Given the description of an element on the screen output the (x, y) to click on. 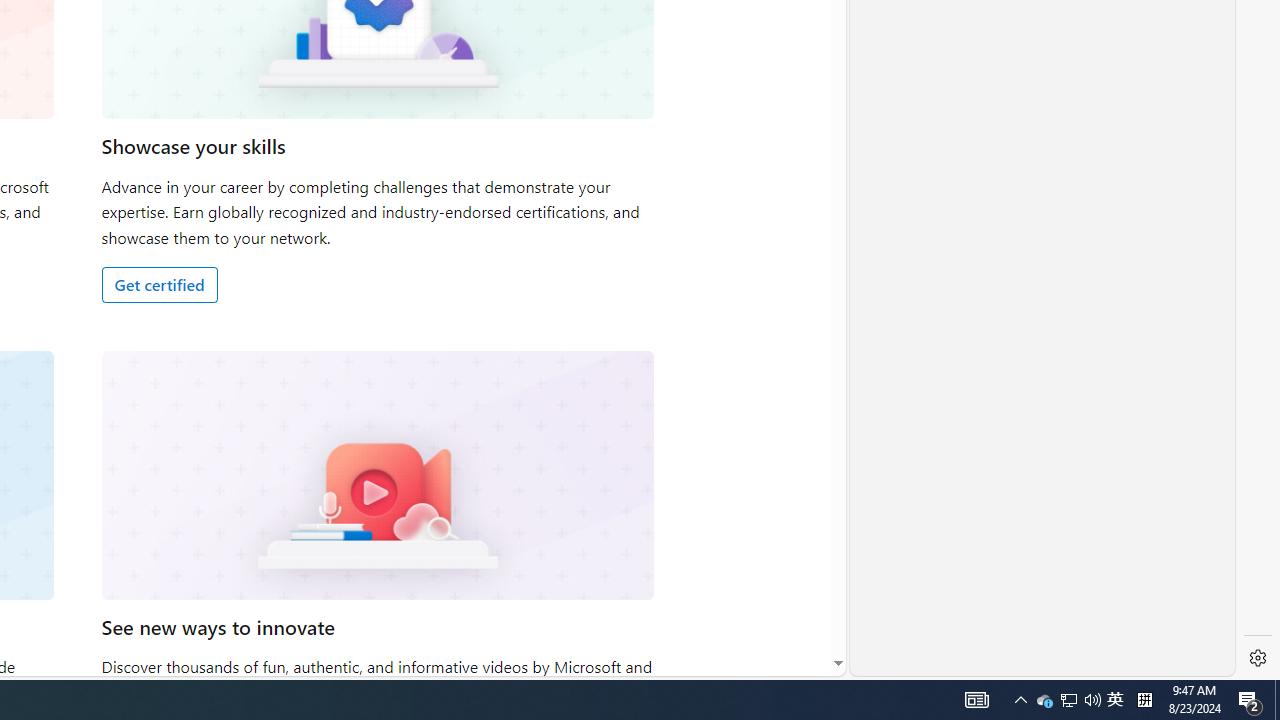
Get certified (159, 284)
